Given the description of an element on the screen output the (x, y) to click on. 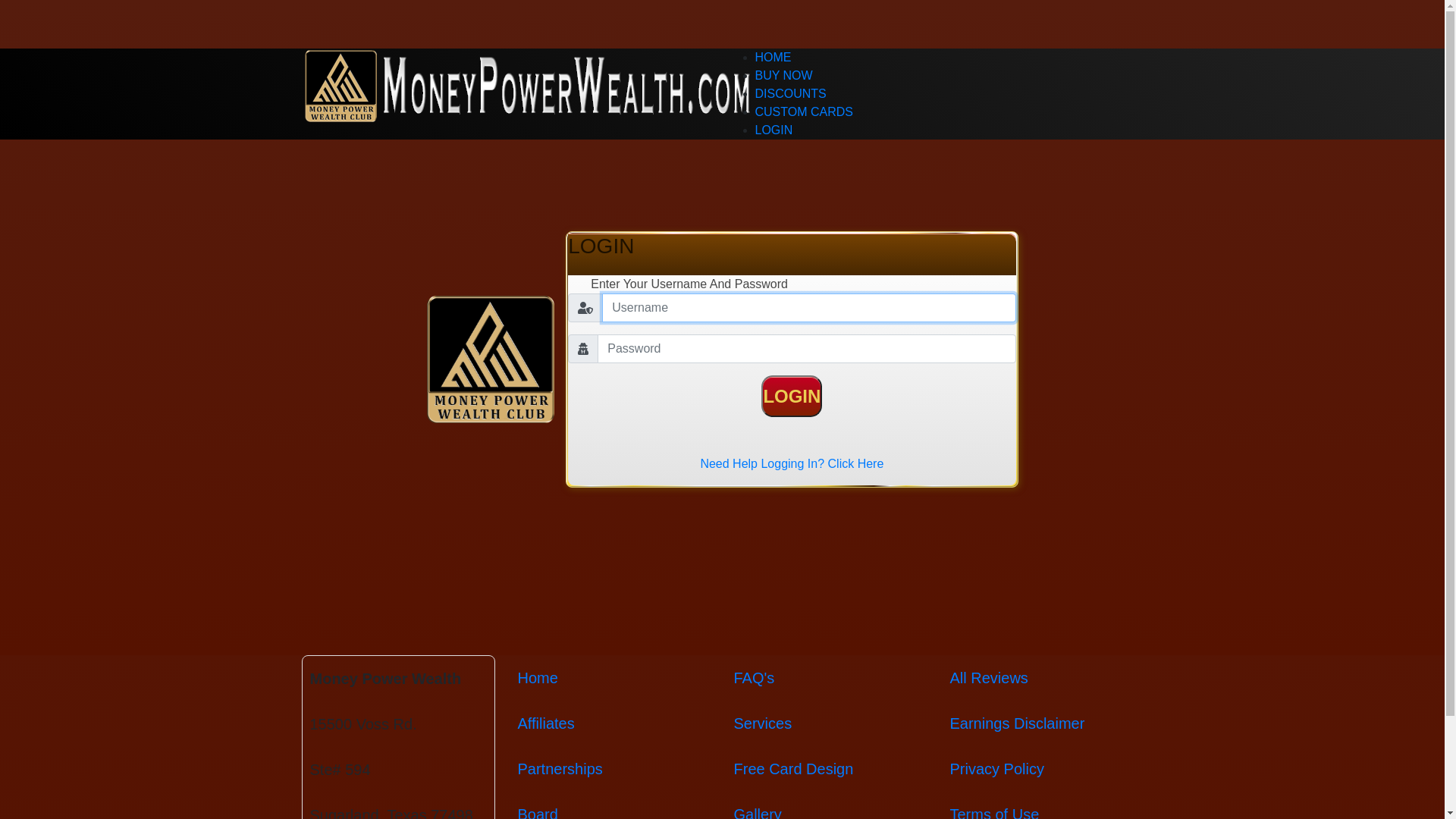
Need Help Logging In? Click Here Element type: text (791, 464)
BUY NOW Element type: text (783, 75)
Privacy Policy Element type: text (996, 768)
LOGIN Element type: text (774, 129)
DISCOUNTS Element type: text (790, 93)
Affiliates Element type: text (545, 723)
CUSTOM CARDS Element type: text (804, 111)
Home Element type: text (537, 677)
Partnerships Element type: text (559, 768)
Free Card Design Element type: text (793, 768)
FAQ's Element type: text (754, 677)
HOME Element type: text (773, 56)
LOGIN Element type: text (791, 396)
Earnings Disclaimer Element type: text (1016, 723)
Services Element type: text (763, 723)
All Reviews Element type: text (988, 677)
